Given the description of an element on the screen output the (x, y) to click on. 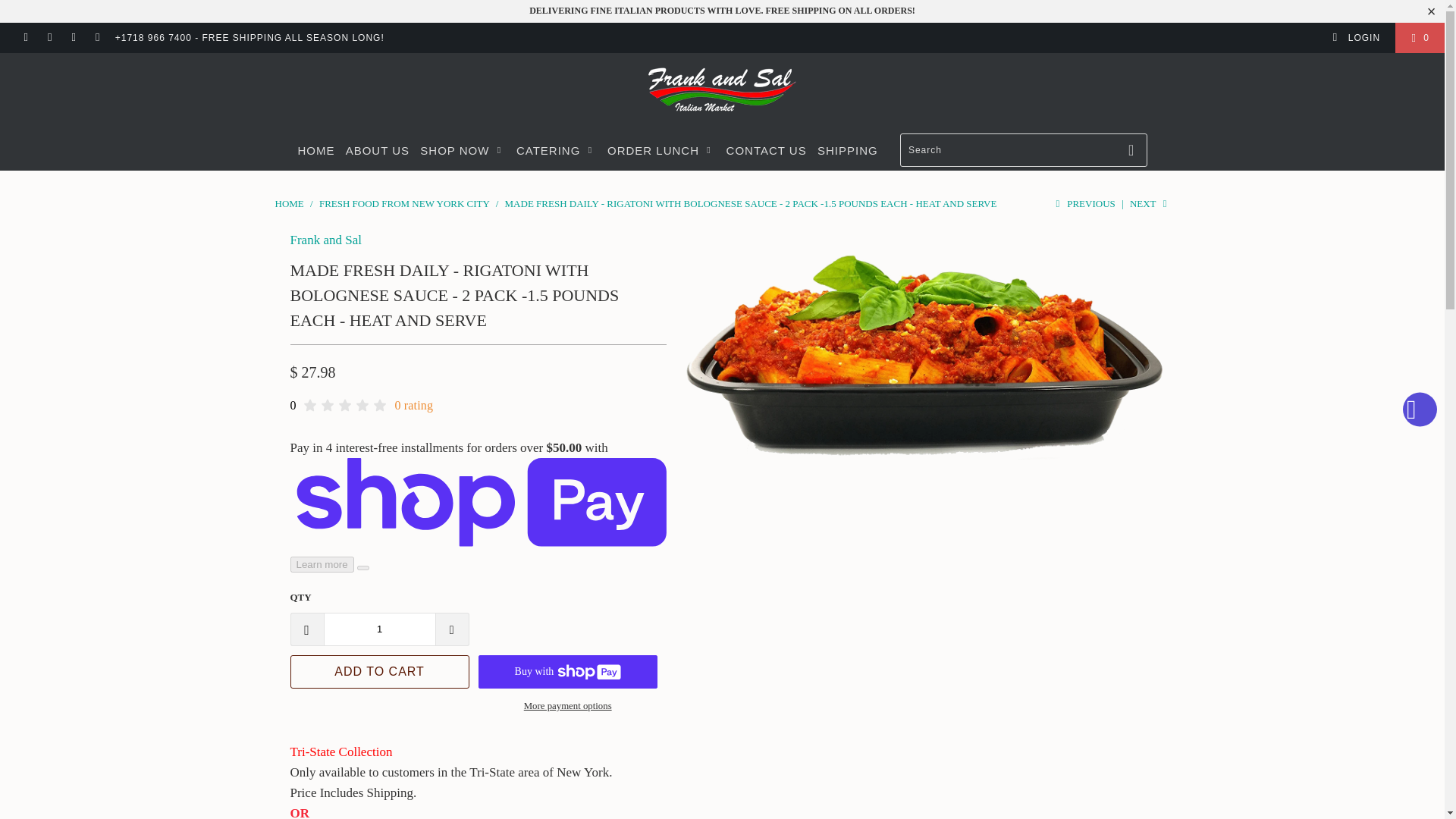
1 (379, 629)
Frank and Sal  (288, 203)
Fresh Food From New York City (405, 203)
Previous (1083, 203)
My Account  (1355, 37)
Email Frank and Sal  (96, 37)
Frank and Sal  (325, 239)
Frank and Sal  on Instagram (73, 37)
Next (1149, 203)
Frank and Sal  on Facebook (25, 37)
